Given the description of an element on the screen output the (x, y) to click on. 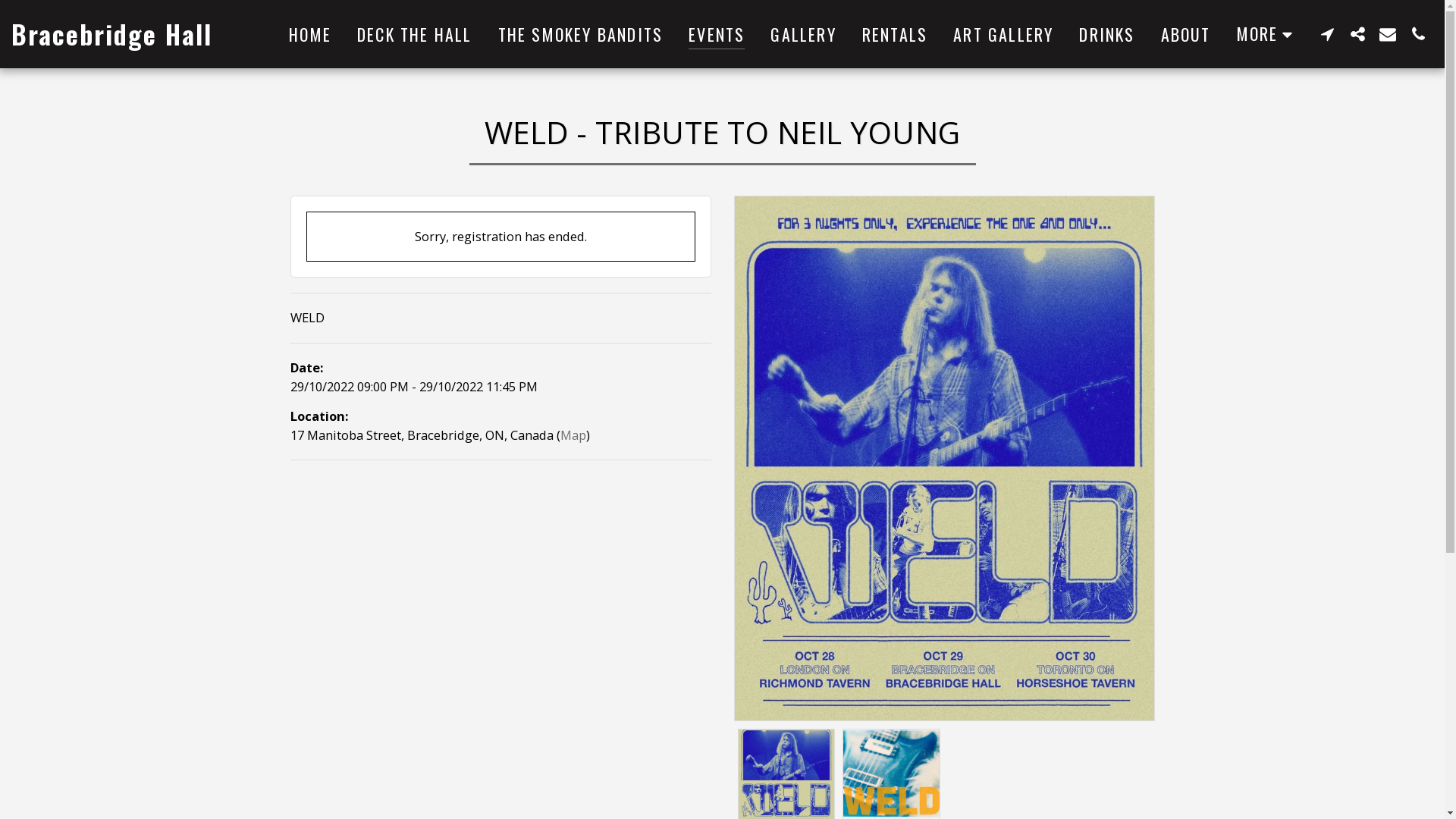
ABOUT Element type: text (1185, 33)
  Element type: text (1417, 33)
  Element type: text (1387, 33)
  Element type: text (1326, 33)
ART GALLERY Element type: text (1003, 33)
Bracebridge Hall Element type: text (111, 34)
Map Element type: text (572, 434)
EVENTS Element type: text (716, 33)
DRINKS Element type: text (1106, 33)
MORE   Element type: text (1267, 33)
RENTALS Element type: text (894, 33)
GALLERY Element type: text (802, 33)
  Element type: text (1357, 33)
DECK THE HALL Element type: text (414, 33)
THE SMOKEY BANDITS Element type: text (580, 33)
HOME Element type: text (309, 33)
